Given the description of an element on the screen output the (x, y) to click on. 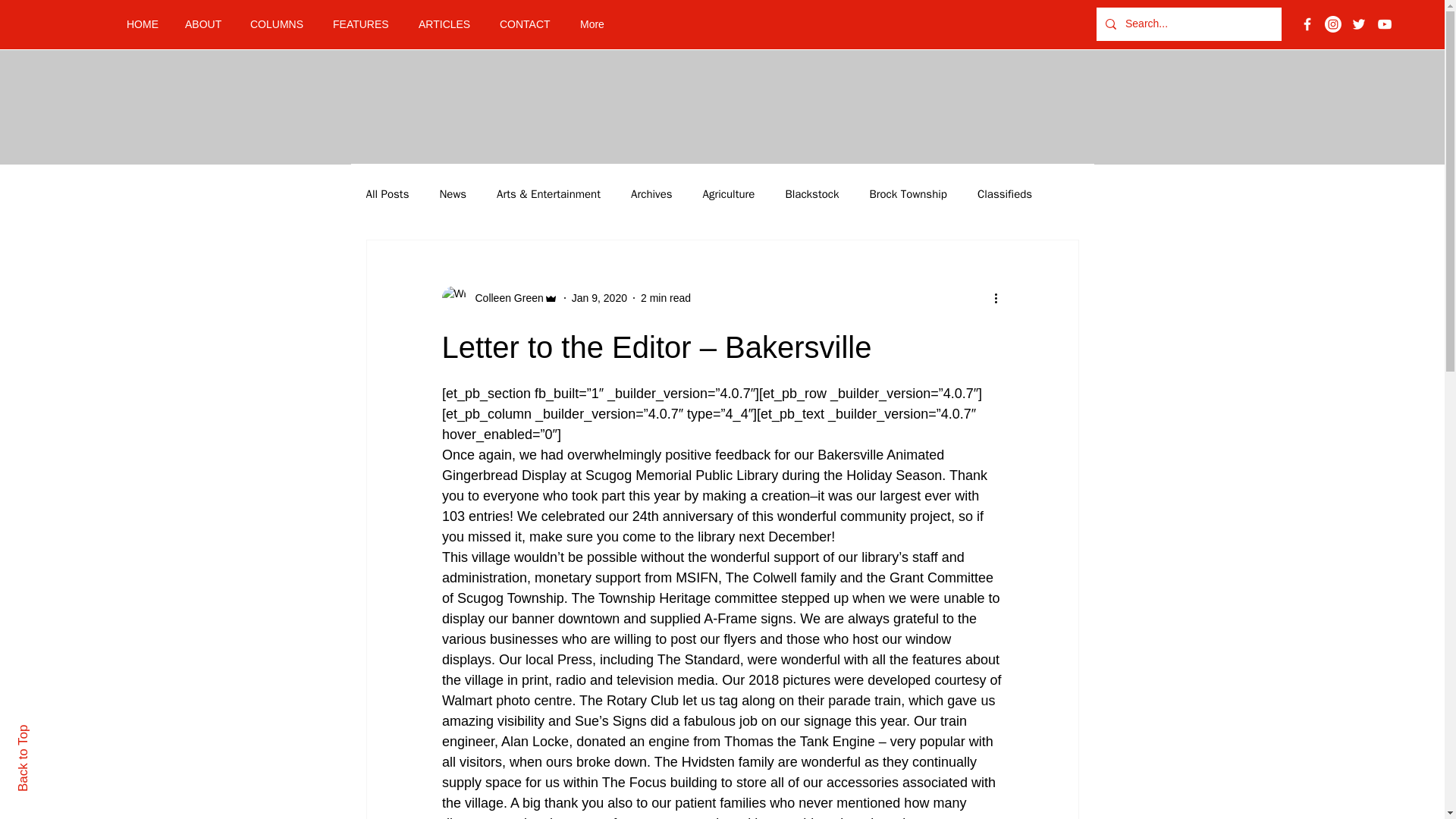
Brock Township (907, 193)
Agriculture (729, 193)
All Posts (387, 193)
CONTACT (528, 24)
Blackstock (811, 193)
Classifieds (1004, 193)
News (452, 193)
Jan 9, 2020 (599, 297)
Colleen Green (504, 297)
Archives (651, 193)
